Given the description of an element on the screen output the (x, y) to click on. 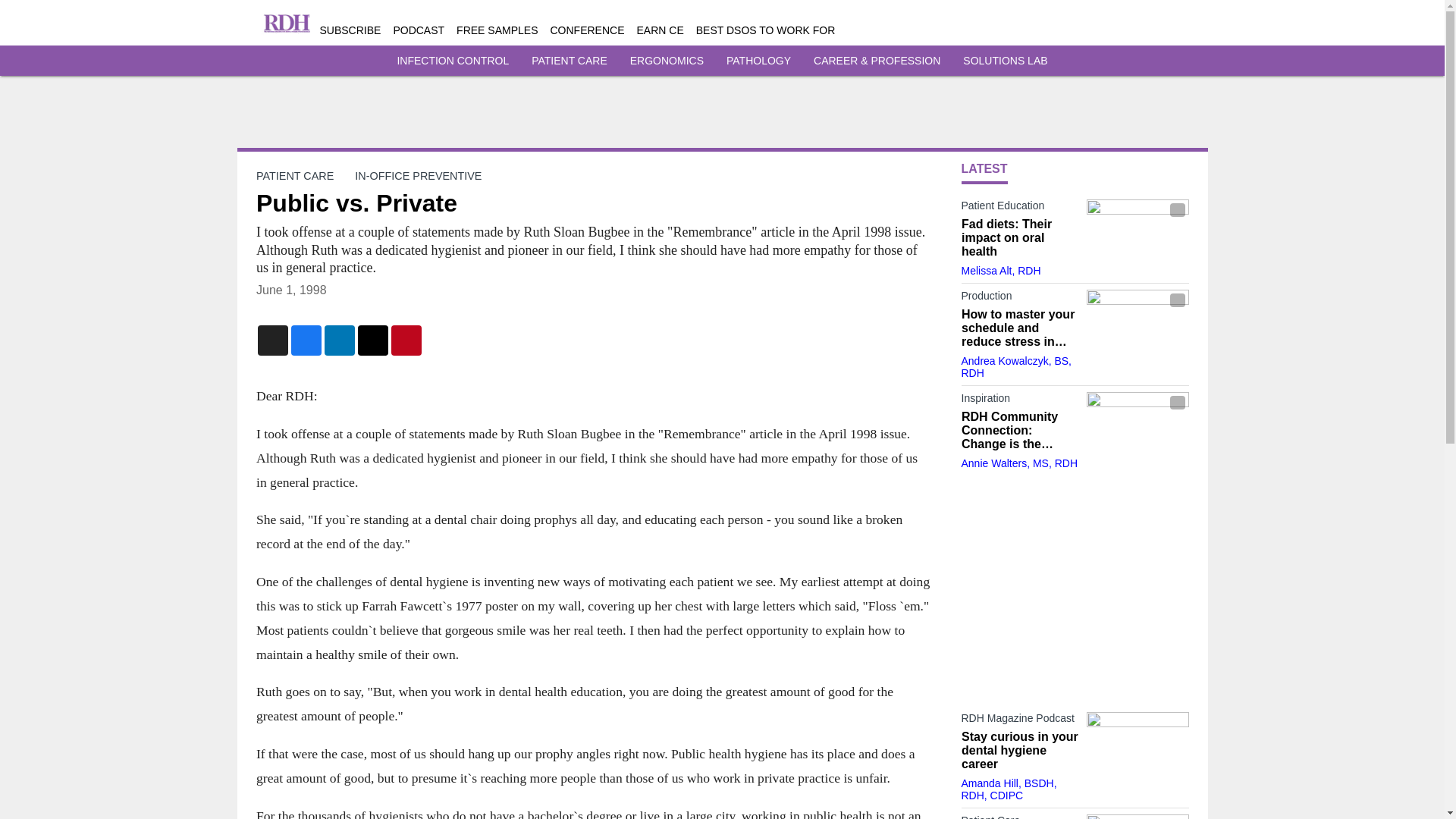
Andrea Kowalczyk, BS, RDH (1015, 366)
BEST DSOS TO WORK FOR (765, 30)
IN-OFFICE PREVENTIVE (418, 175)
Melissa Alt, RDH (1000, 270)
RDH Magazine Podcast (1019, 720)
Stay curious in your dental hygiene career (1019, 750)
EARN CE (660, 30)
Patient Care (1019, 816)
FREE SAMPLES (497, 30)
Production (1019, 298)
Amanda Hill, BSDH, RDH, CDIPC (1008, 789)
CONFERENCE (587, 30)
PODCAST (418, 30)
Annie Walters, MS, RDH (1019, 463)
